Given the description of an element on the screen output the (x, y) to click on. 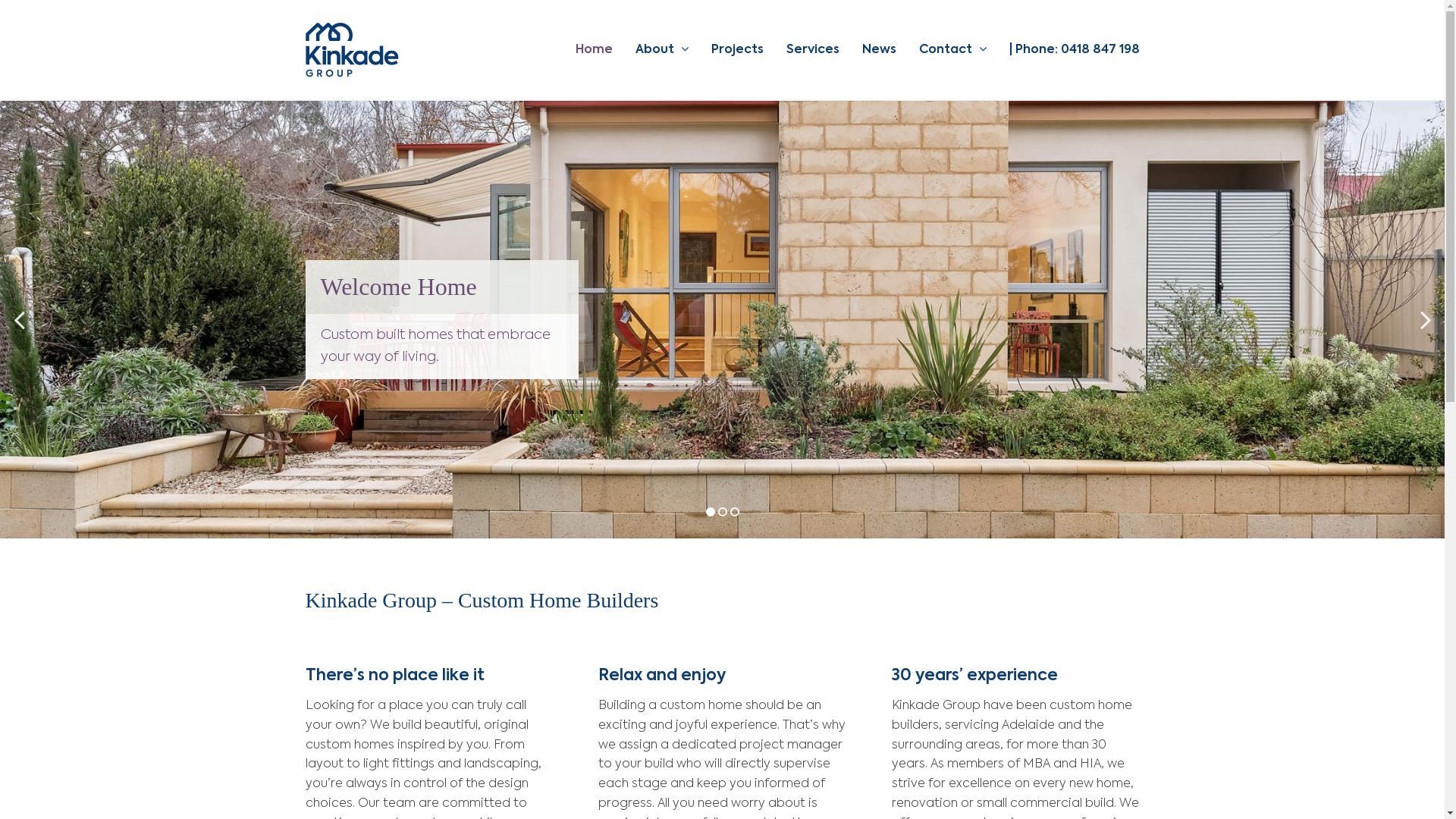
Home Element type: text (592, 50)
| Phone: 0418 847 198 Element type: text (1073, 50)
News Element type: text (878, 50)
Projects Element type: text (737, 50)
3 Element type: text (733, 511)
About Element type: text (661, 50)
2 Element type: text (721, 511)
Relax and enjoy Element type: text (661, 676)
1 Element type: text (709, 511)
Contact Element type: text (952, 50)
Services Element type: text (811, 50)
Kinkade Group Element type: hover (351, 49)
